Given the description of an element on the screen output the (x, y) to click on. 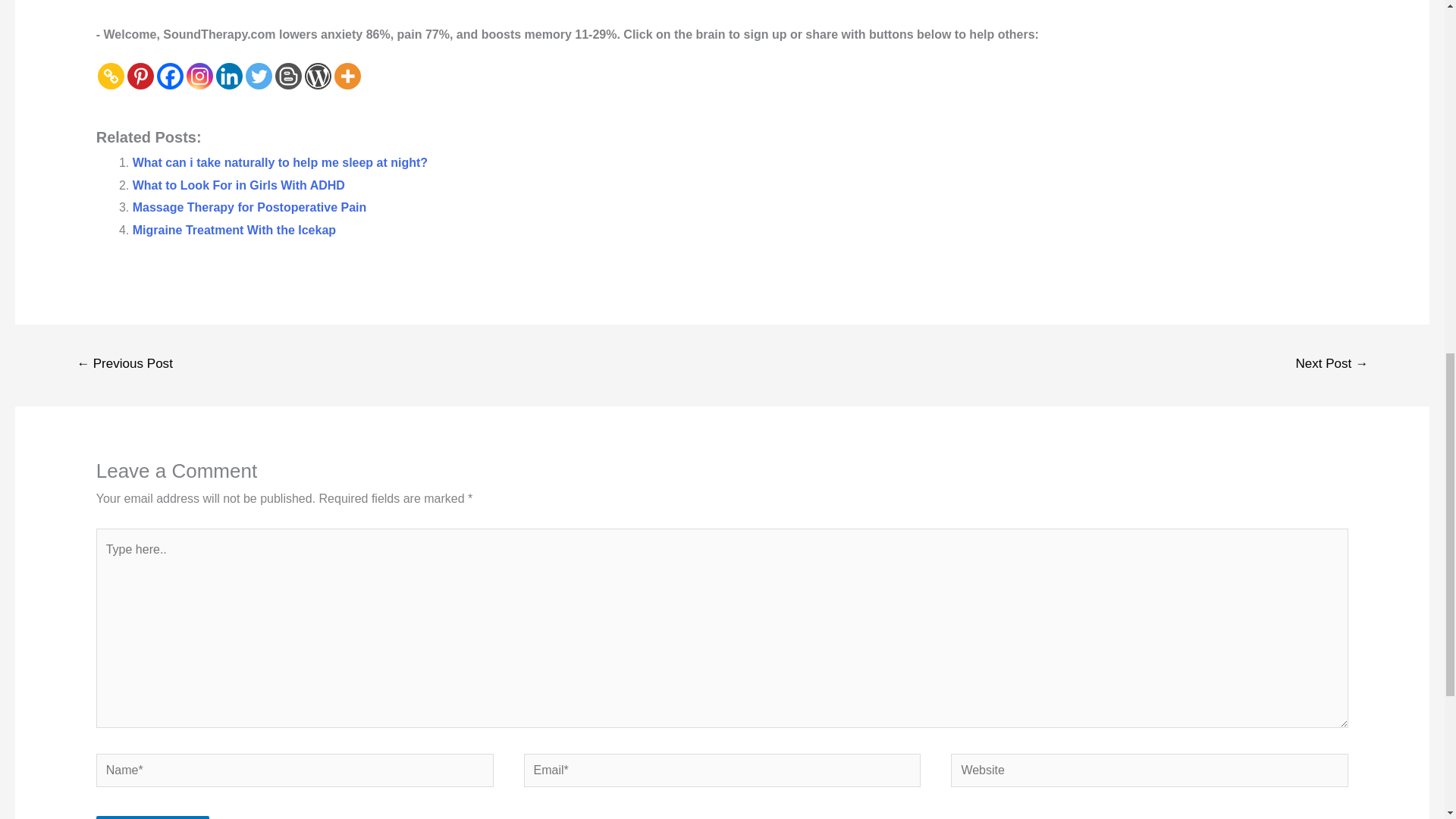
Pinterest (141, 76)
What can i take naturally to help me sleep at night? (280, 162)
What to Look For in Girls With ADHD (238, 185)
Copy Link (110, 76)
Massage Therapy for Postoperative Pain (249, 206)
Migraine Treatment With the Icekap (234, 229)
